Given the description of an element on the screen output the (x, y) to click on. 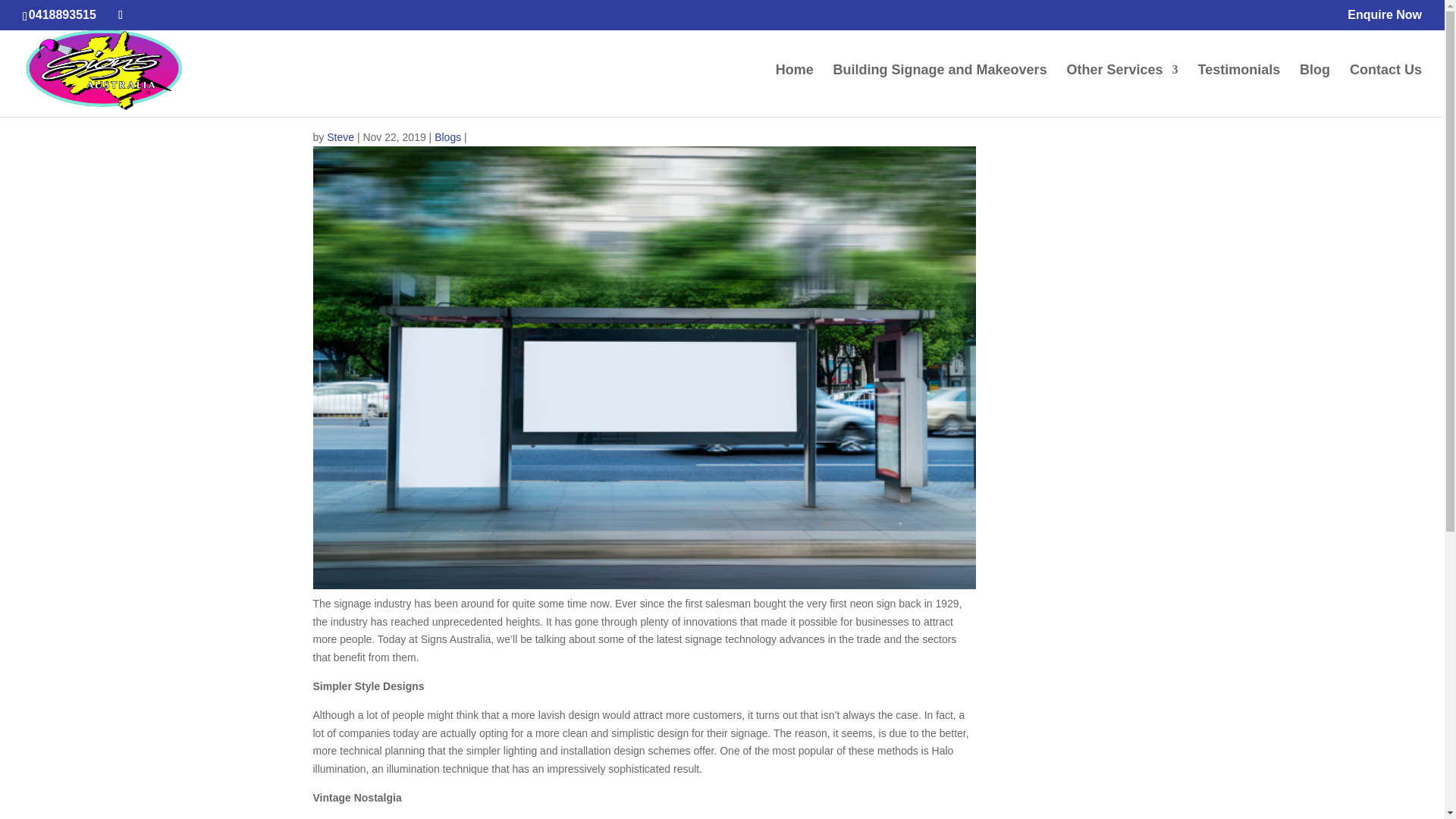
Blogs (447, 137)
Enquire Now (1385, 19)
Building Signage and Makeovers (939, 90)
Contact Us (1385, 90)
Steve (339, 137)
Testimonials (1239, 90)
Posts by Steve (339, 137)
Other Services (1122, 90)
